Given the description of an element on the screen output the (x, y) to click on. 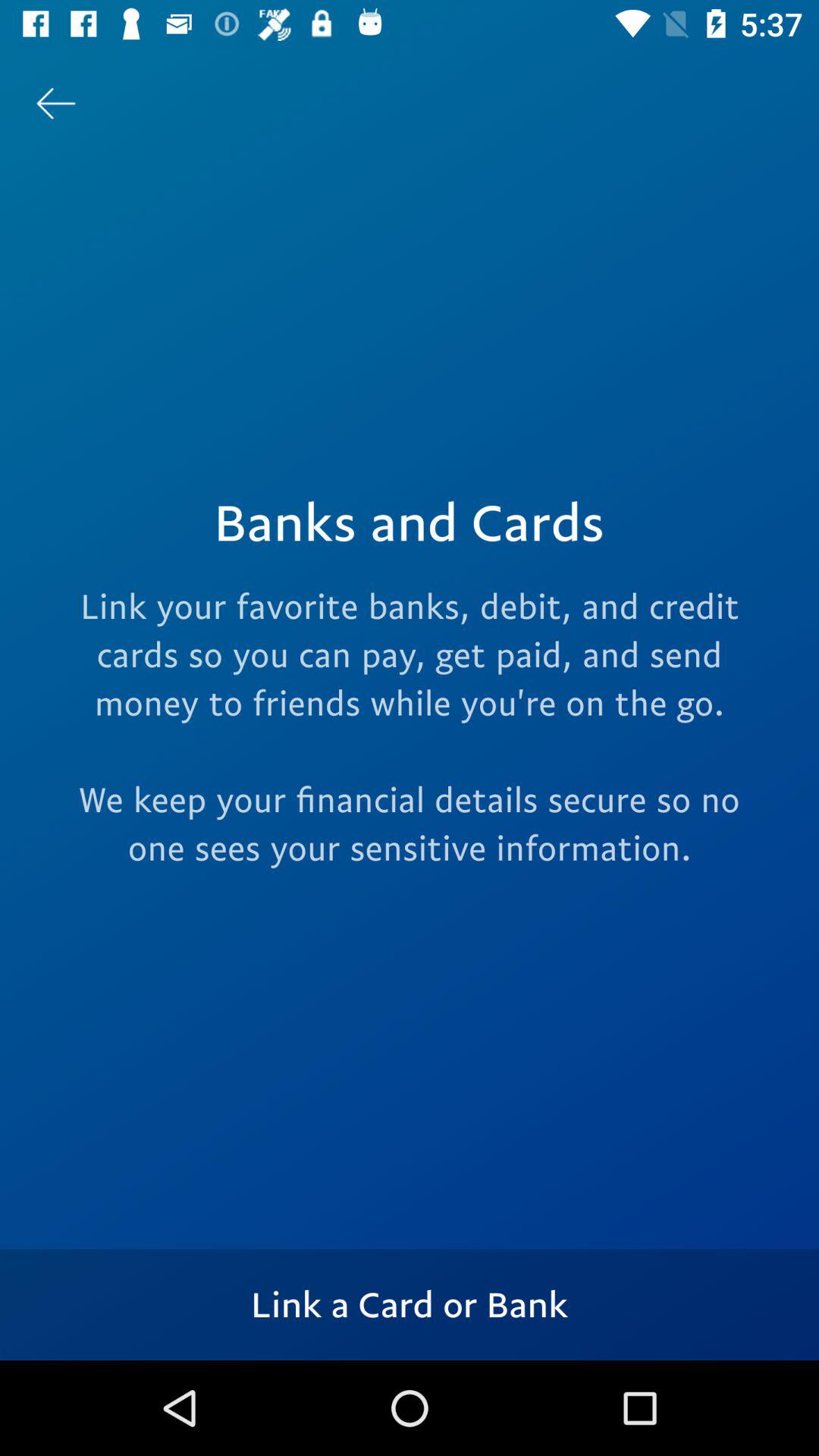
press the icon above link your favorite item (55, 103)
